Given the description of an element on the screen output the (x, y) to click on. 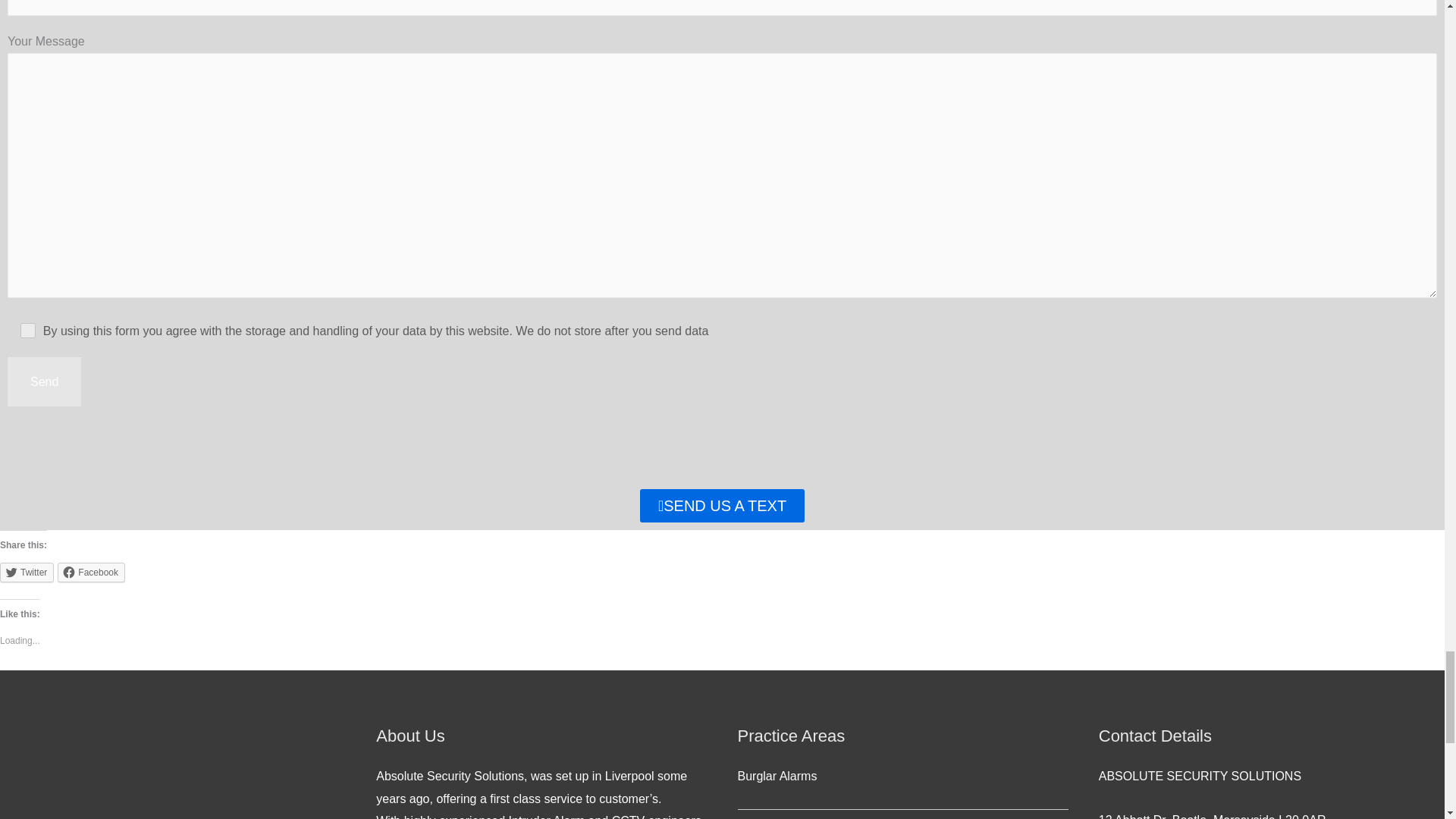
Send (44, 382)
1 (28, 329)
SEND US A TEXT (722, 505)
Click to share on Twitter (26, 572)
Send (44, 382)
Click to share on Facebook (91, 572)
Twitter (26, 572)
Facebook (91, 572)
